Given the description of an element on the screen output the (x, y) to click on. 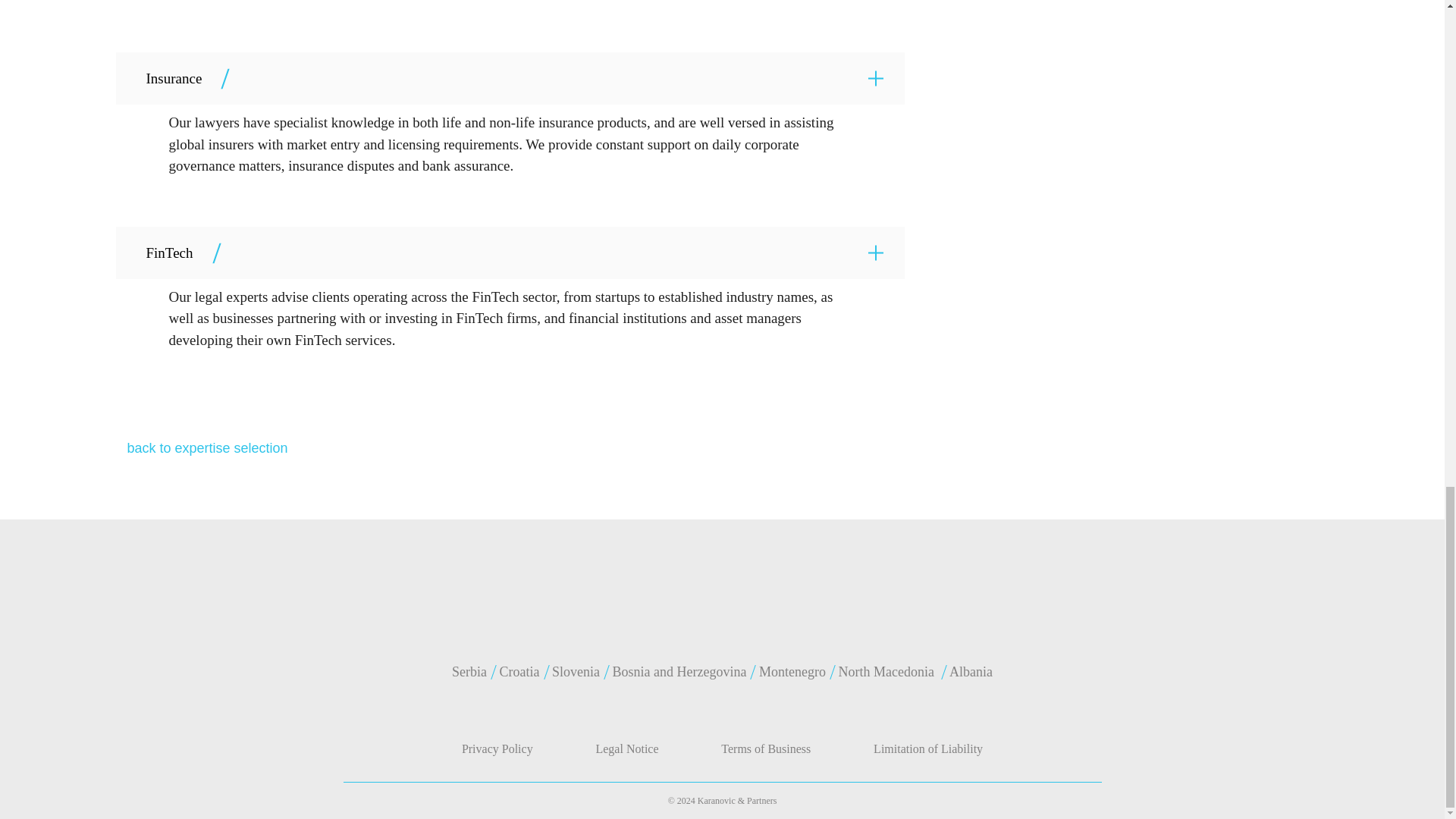
Terms of Business (765, 748)
Privacy Policy (496, 748)
back to expertise selection (206, 448)
Legal Notice (626, 748)
Limitation of Liability (927, 748)
